Given the description of an element on the screen output the (x, y) to click on. 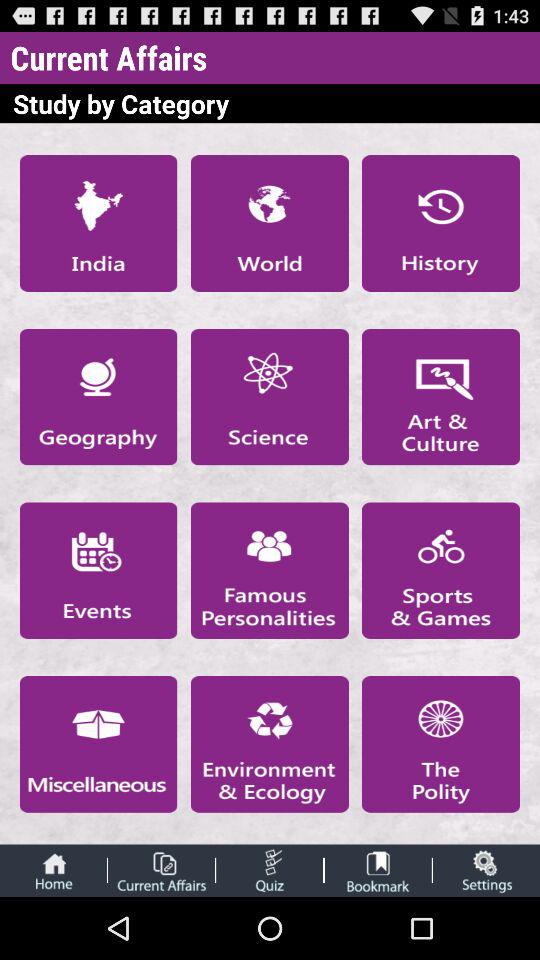
choose science category (269, 396)
